Given the description of an element on the screen output the (x, y) to click on. 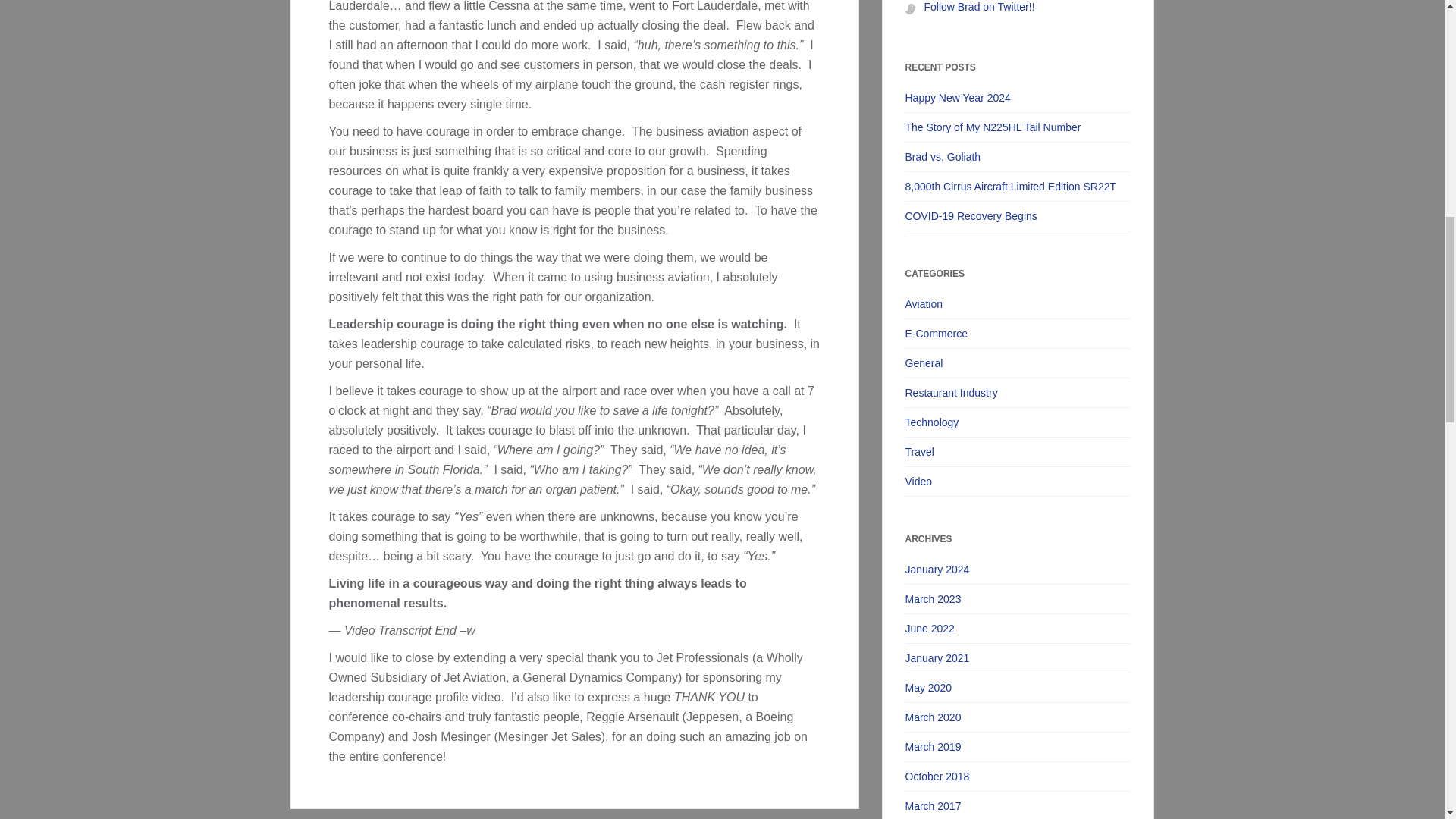
Follow Brad on Twitter!! (978, 6)
8,000th Cirrus Aircraft Limited Edition SR22T (1018, 185)
General (1018, 363)
Aviation (1018, 304)
Brad vs. Goliath (1018, 156)
E-Commerce (1018, 332)
The Story of My N225HL Tail Number (1018, 126)
Technology (1018, 422)
COVID-19 Recovery Begins (1018, 215)
Happy New Year 2024 (1018, 97)
Restaurant Industry (1018, 391)
